Given the description of an element on the screen output the (x, y) to click on. 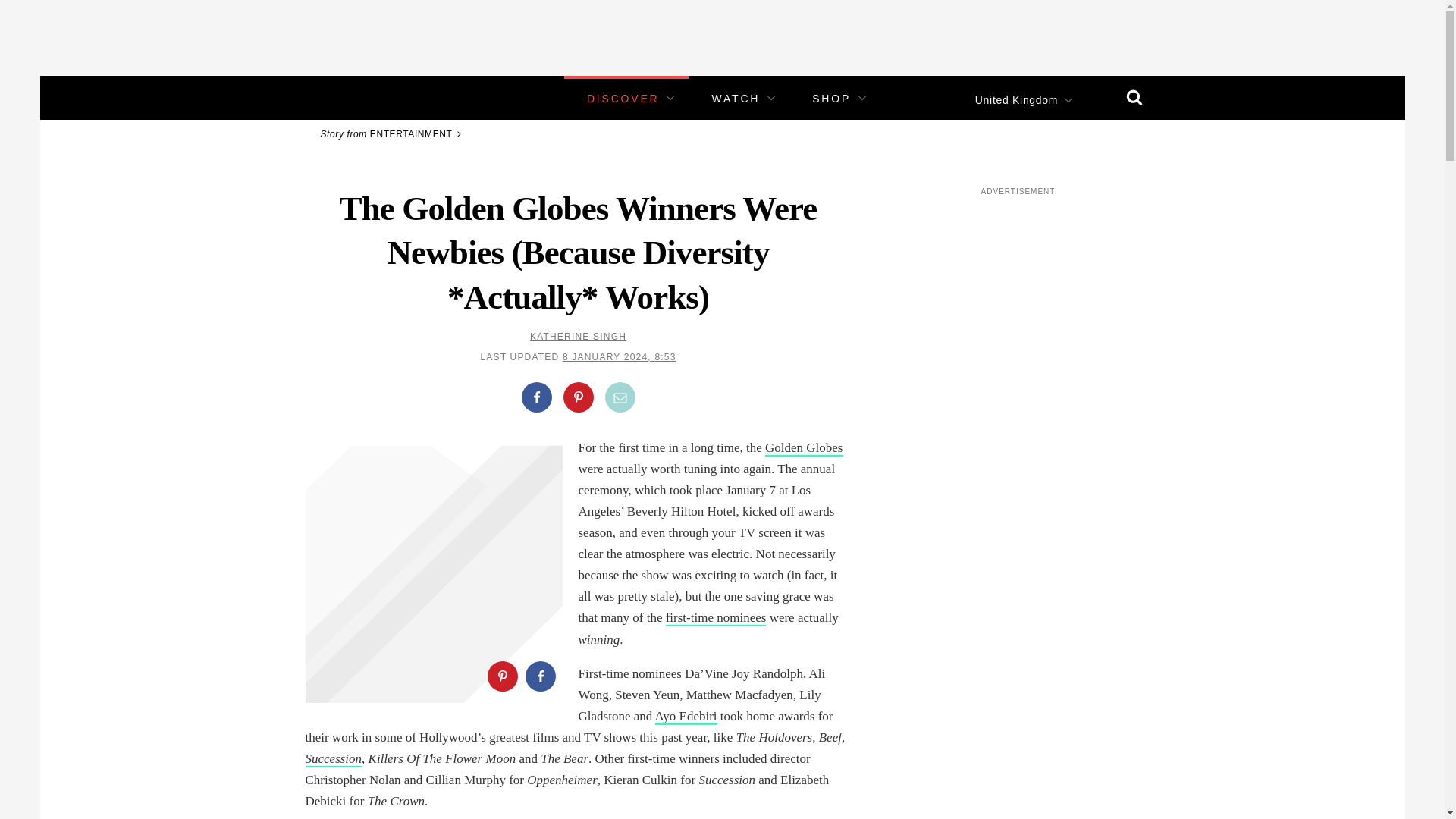
8 JANUARY 2024, 8:53 (619, 357)
Share on Pinterest (501, 675)
Share by Email (619, 397)
Succession (332, 759)
SHOP (831, 98)
Refinery29 (352, 97)
Story from ENTERTAINMENT (392, 133)
KATHERINE SINGH (577, 336)
WATCH (735, 98)
DISCOVER (622, 98)
Golden Globes (804, 448)
first-time nominees (716, 618)
Ayo Edebiri (686, 716)
Share on Pinterest (577, 397)
